Given the description of an element on the screen output the (x, y) to click on. 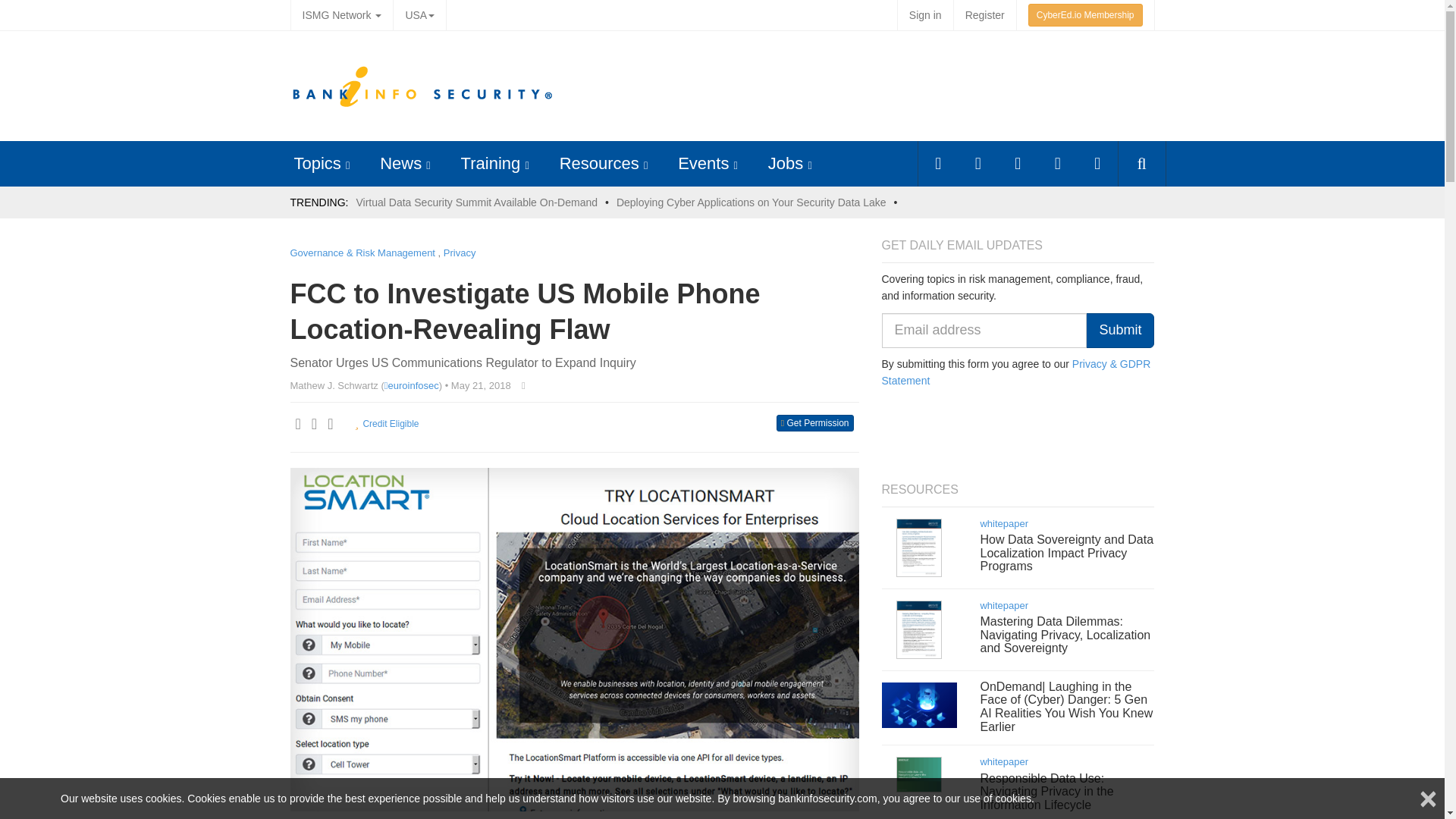
Register (984, 15)
ISMG Network (341, 15)
CyberEd.io Membership (1084, 15)
Sign in (925, 15)
USA (418, 15)
Topics (317, 162)
